Given the description of an element on the screen output the (x, y) to click on. 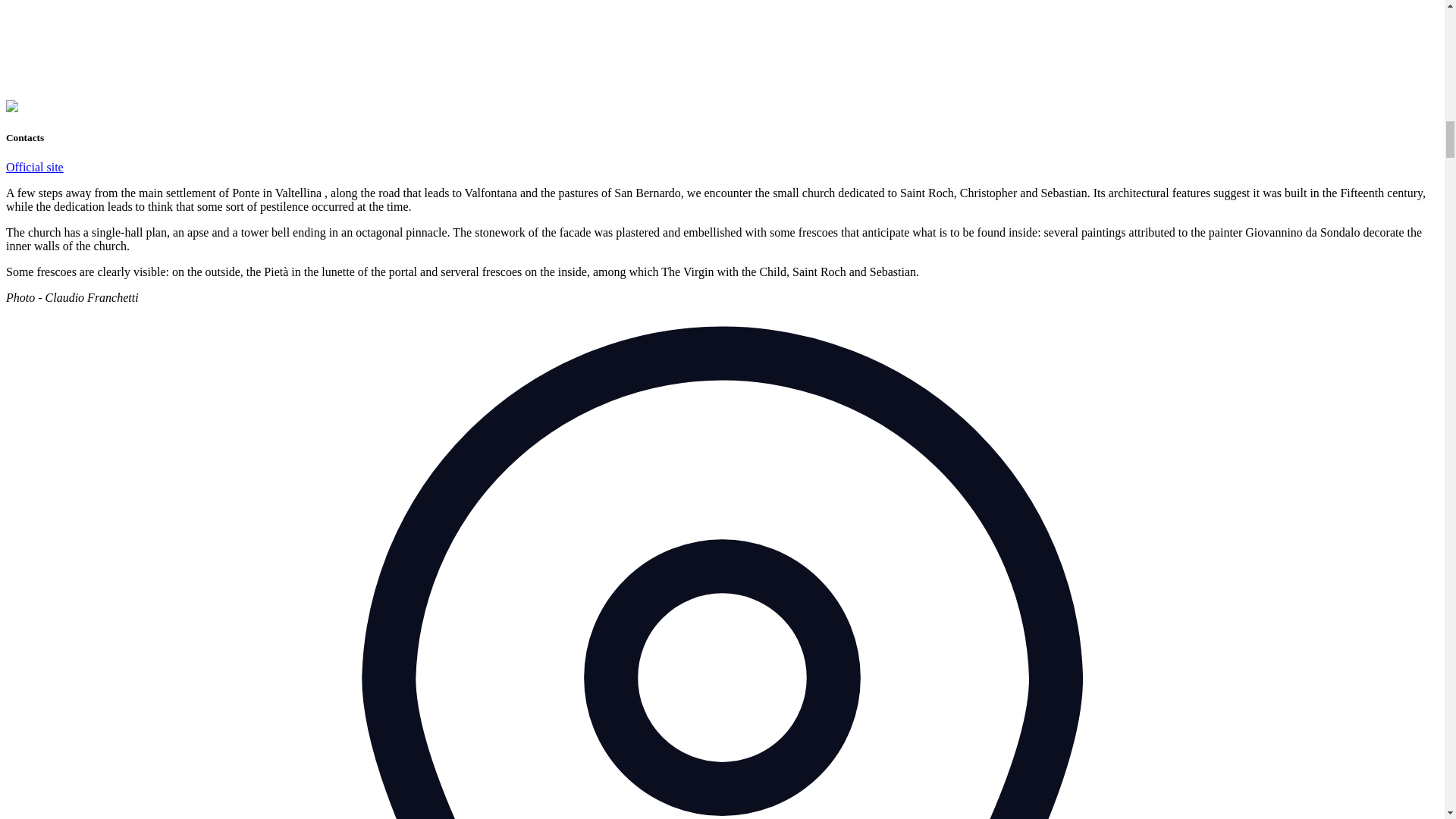
Official site (34, 166)
